Given the description of an element on the screen output the (x, y) to click on. 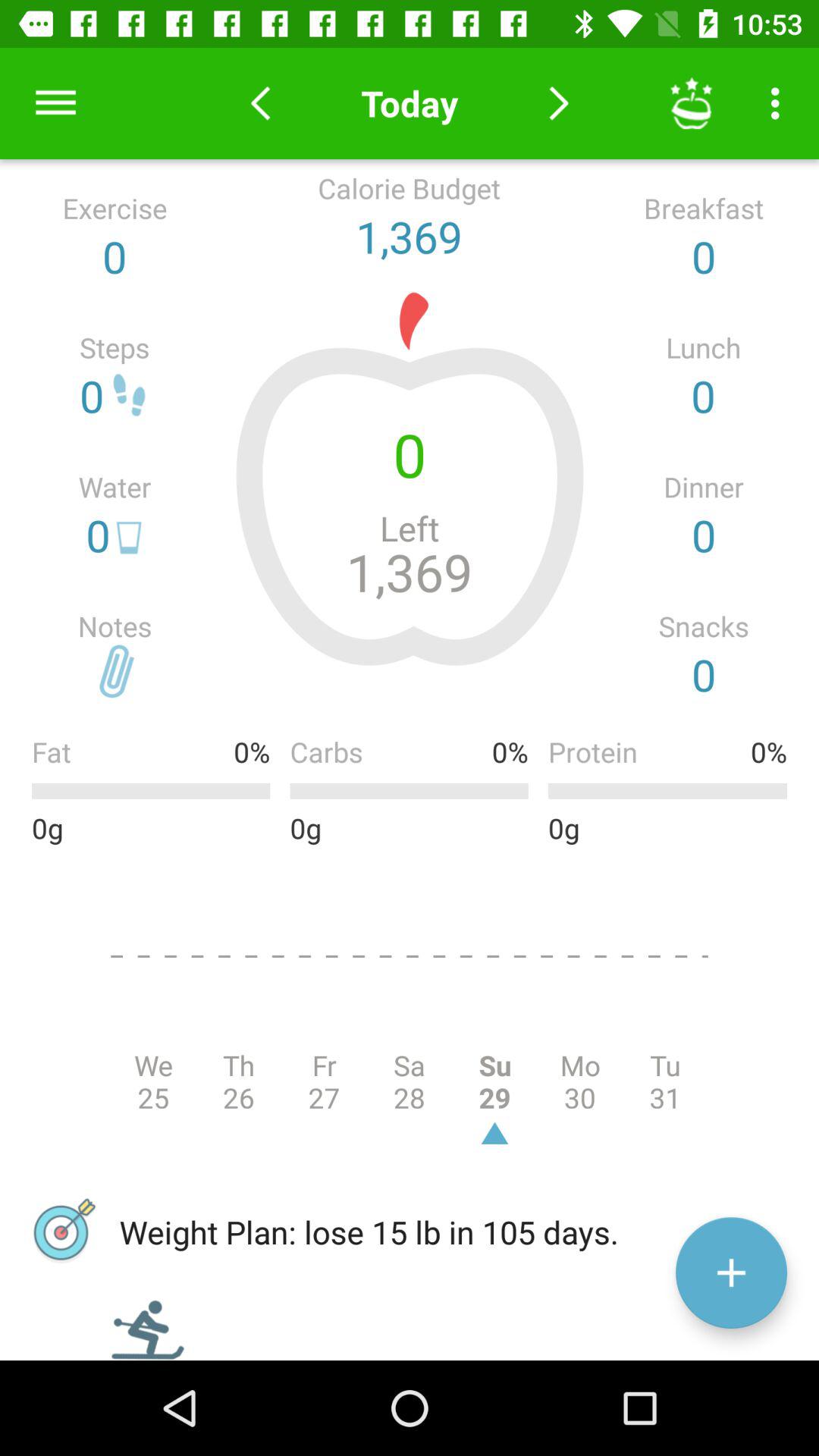
go forward (558, 103)
